Given the description of an element on the screen output the (x, y) to click on. 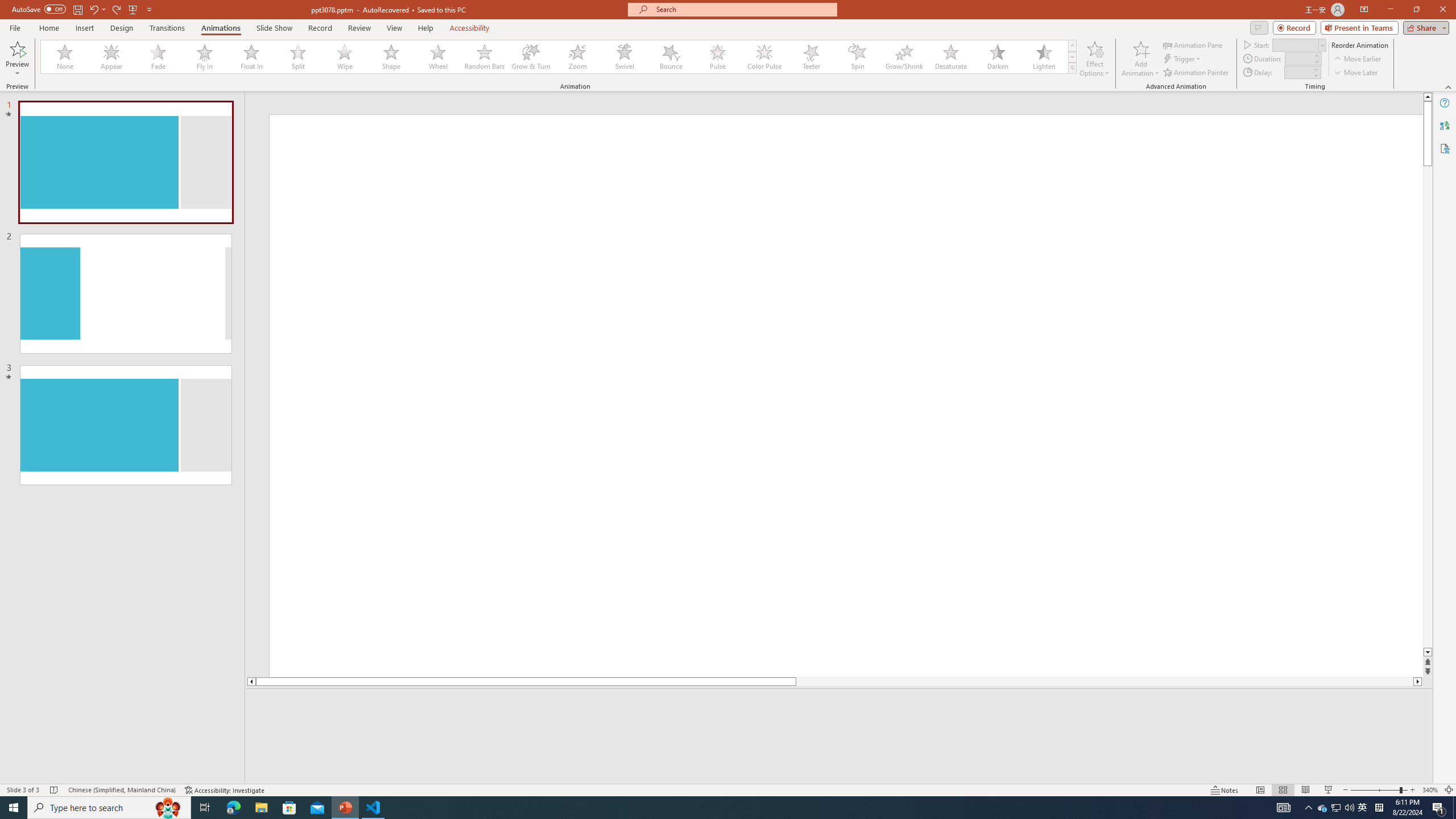
Translator (1444, 125)
Trigger (1182, 58)
Page down (1427, 406)
Swivel (624, 56)
Accessibility Checker Accessibility: Investigate (224, 790)
Split (298, 56)
None (65, 56)
